Given the description of an element on the screen output the (x, y) to click on. 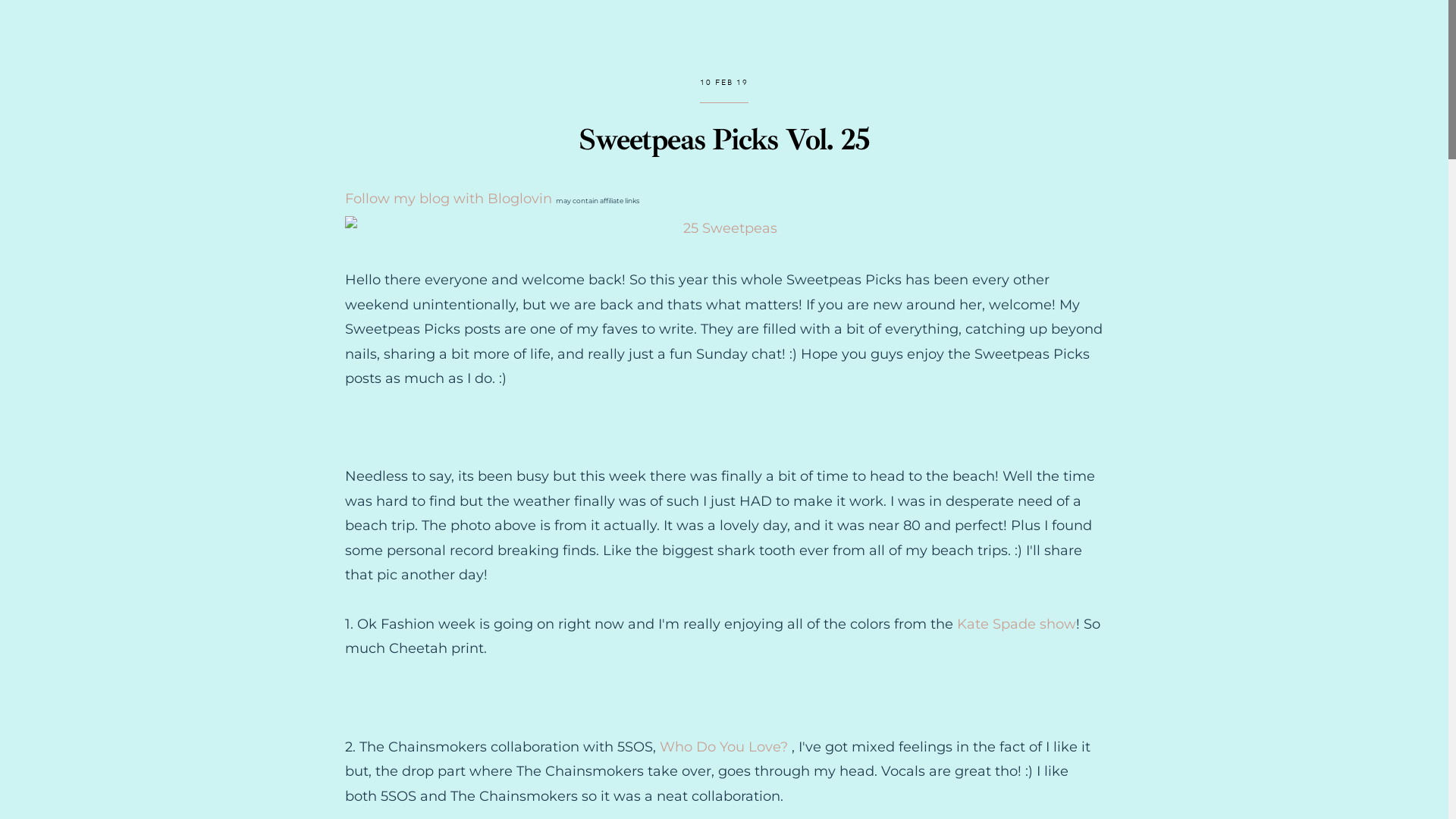
Follow my blog with Bloglovin Element type: text (448, 198)
25 Sweetpeas Sweetpeas Picks Element type: hover (724, 228)
Who Do You Love? Element type: text (721, 746)
Kate Spade show Element type: text (1016, 623)
